Given the description of an element on the screen output the (x, y) to click on. 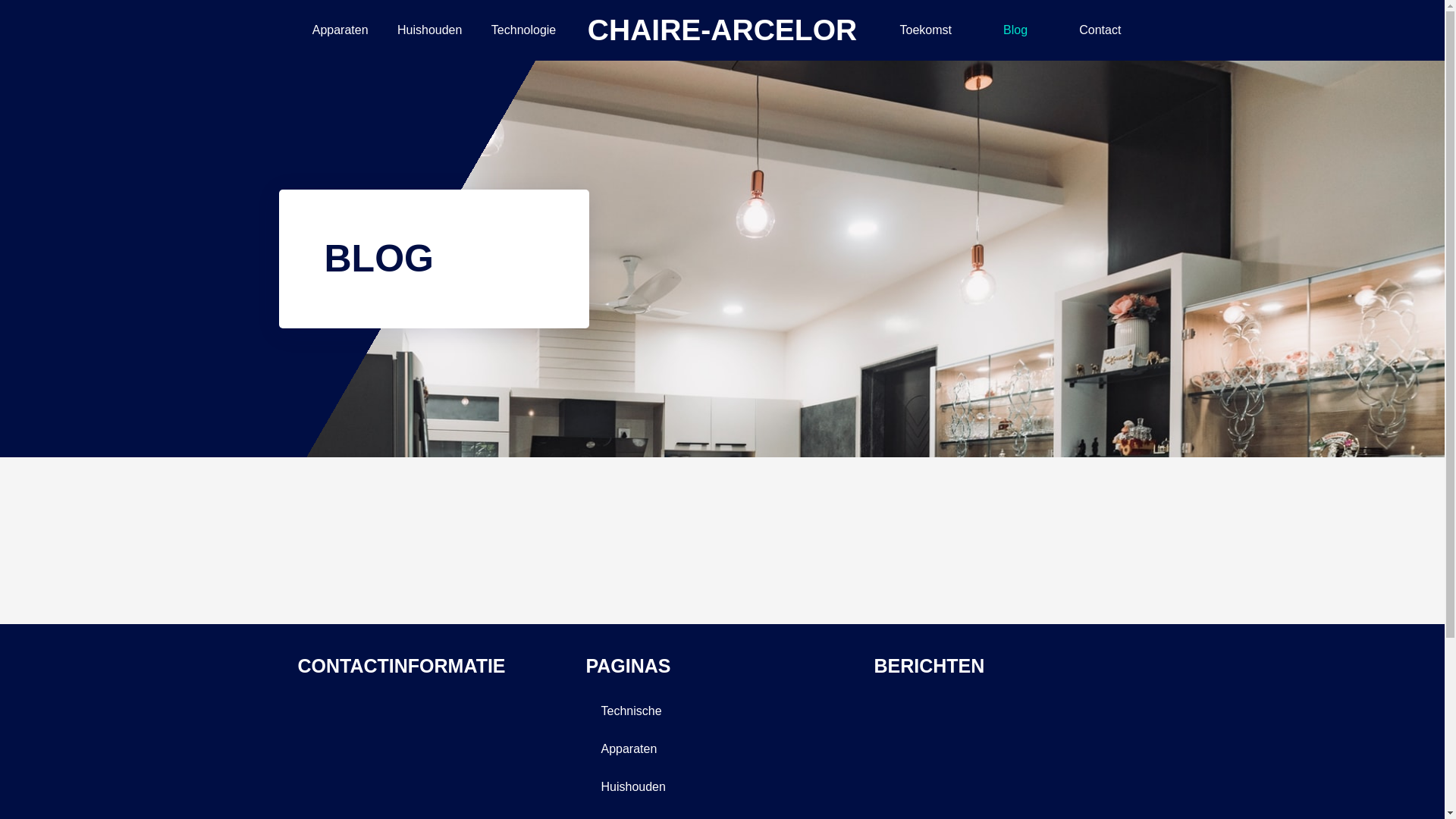
Apparaten Element type: text (721, 748)
Blog Element type: text (1015, 30)
CHAIRE-ARCELOR Element type: text (721, 29)
Apparaten Element type: text (339, 30)
Toekomst Element type: text (925, 30)
Huishouden Element type: text (429, 30)
Huishouden Element type: text (721, 786)
Technische Element type: text (721, 710)
Technologie Element type: text (523, 30)
Contact Element type: text (1099, 30)
